Given the description of an element on the screen output the (x, y) to click on. 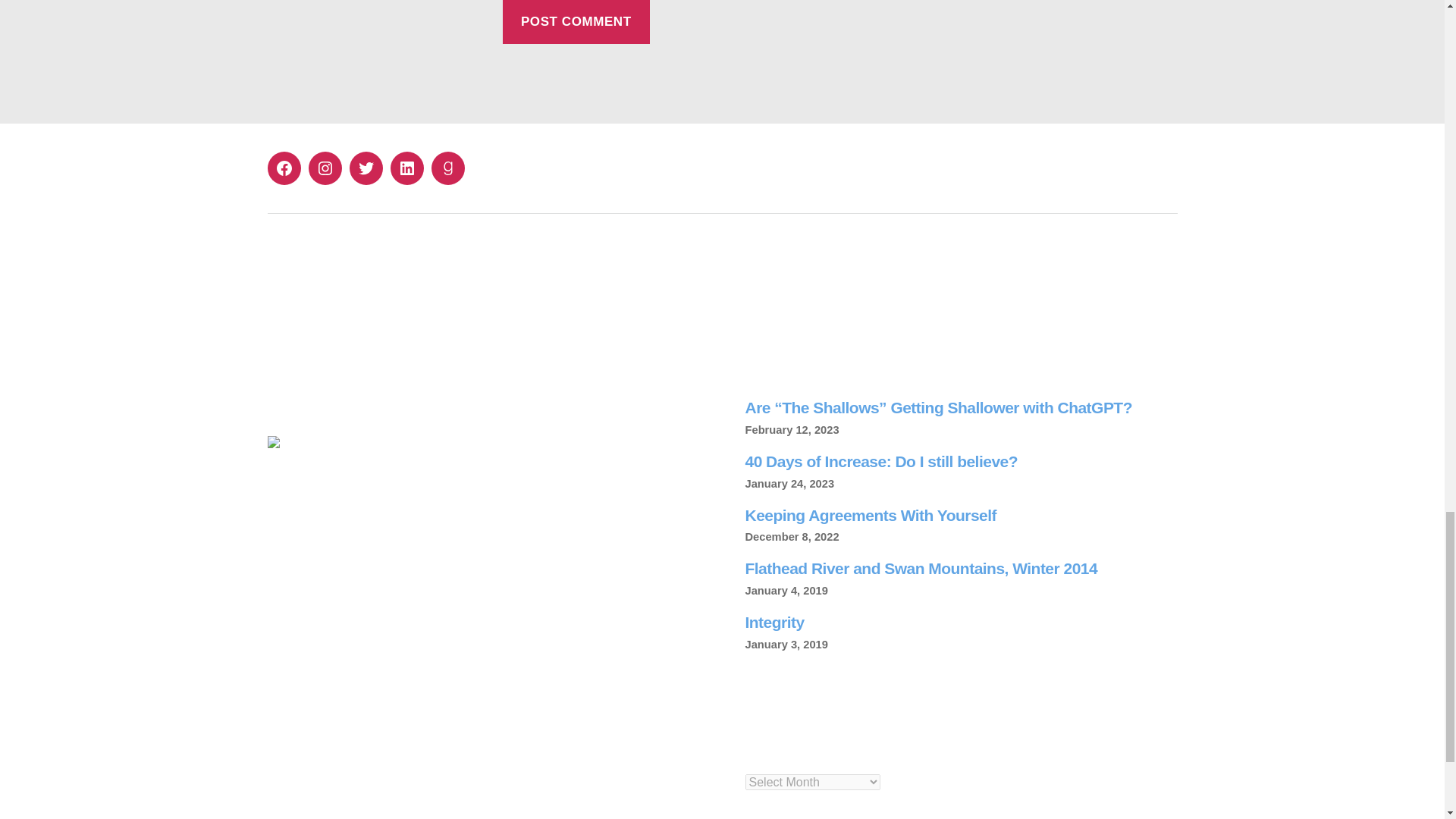
Facebook (282, 168)
40 Days of Increase: Do I still believe? (880, 461)
LinkedIn (406, 168)
Keeping Agreements With Yourself (869, 515)
Post Comment (575, 22)
Twitter (365, 168)
Goodreads (447, 168)
Instagram (323, 168)
Flathead River and Swan Mountains, Winter 2014 (920, 568)
Integrity (773, 621)
Post Comment (575, 22)
